Given the description of an element on the screen output the (x, y) to click on. 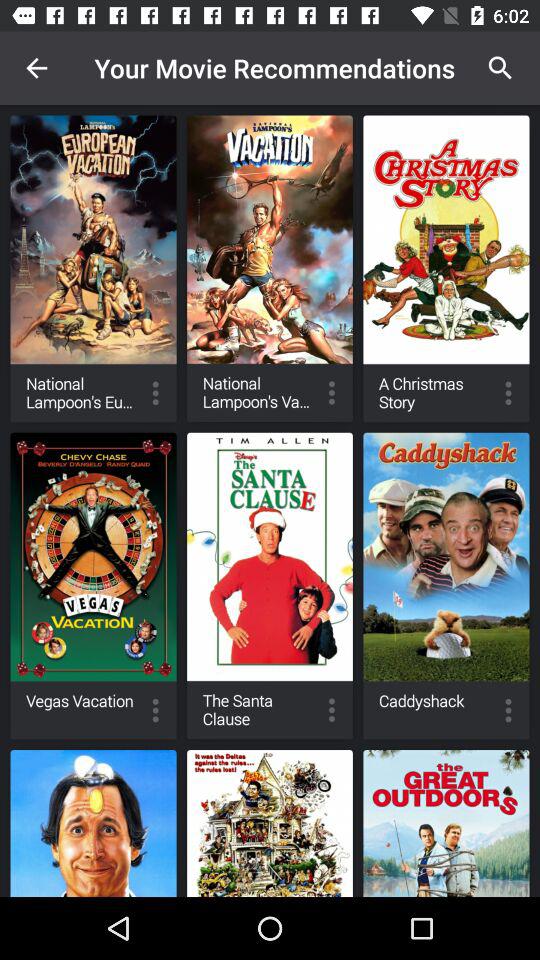
select item to the left of your movie recommendations (36, 68)
